Given the description of an element on the screen output the (x, y) to click on. 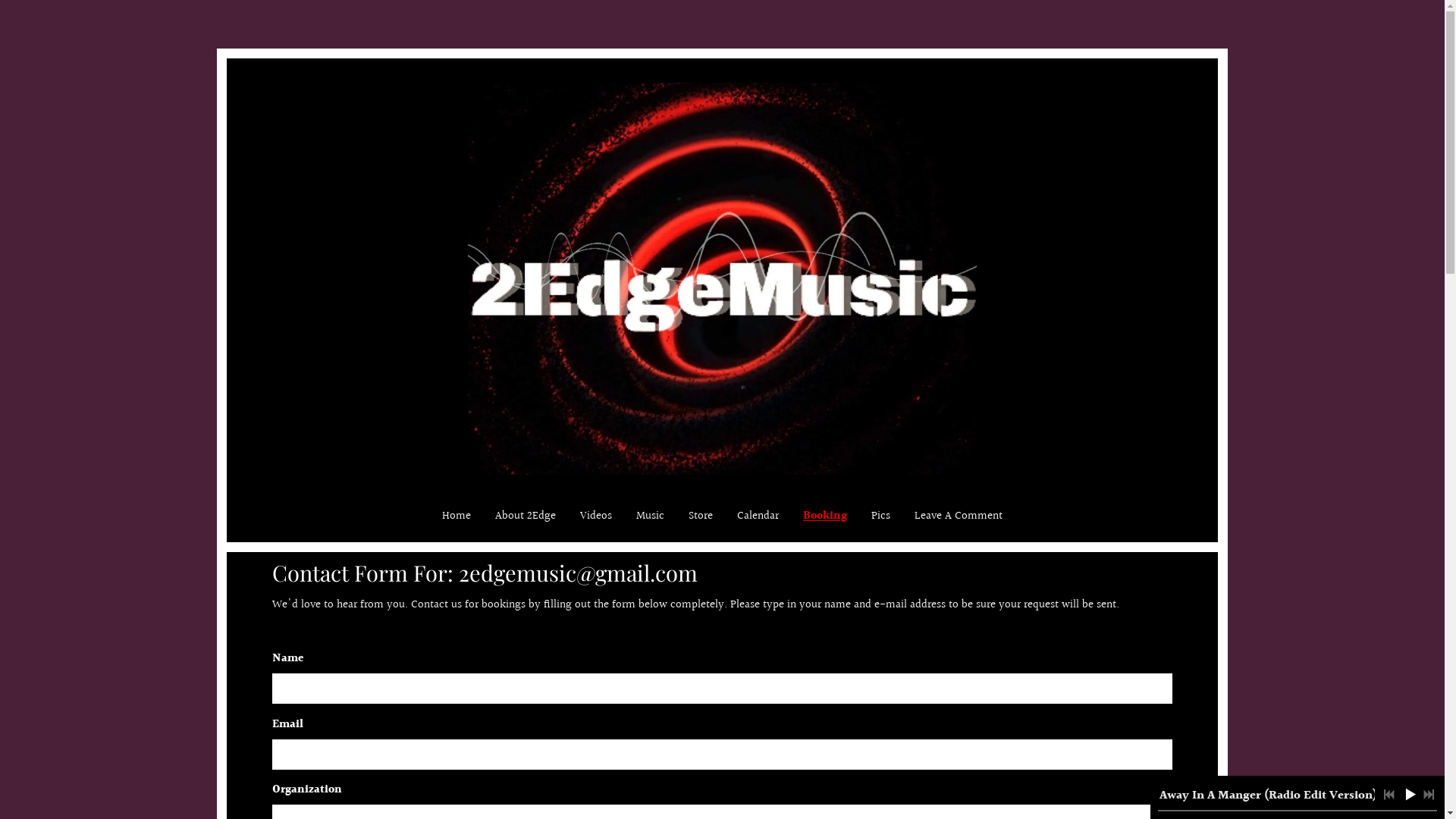
Store Element type: text (700, 516)
About 2Edge Element type: text (525, 516)
Play Element type: hover (1409, 793)
Booking Element type: text (825, 516)
Pics Element type: text (880, 516)
Previous track Element type: hover (1389, 794)
Calendar Element type: text (757, 516)
Leave A Comment Element type: text (958, 516)
Home Element type: text (456, 516)
Next track Element type: hover (1428, 794)
Music Element type: text (650, 516)
Videos Element type: text (595, 516)
